Given the description of an element on the screen output the (x, y) to click on. 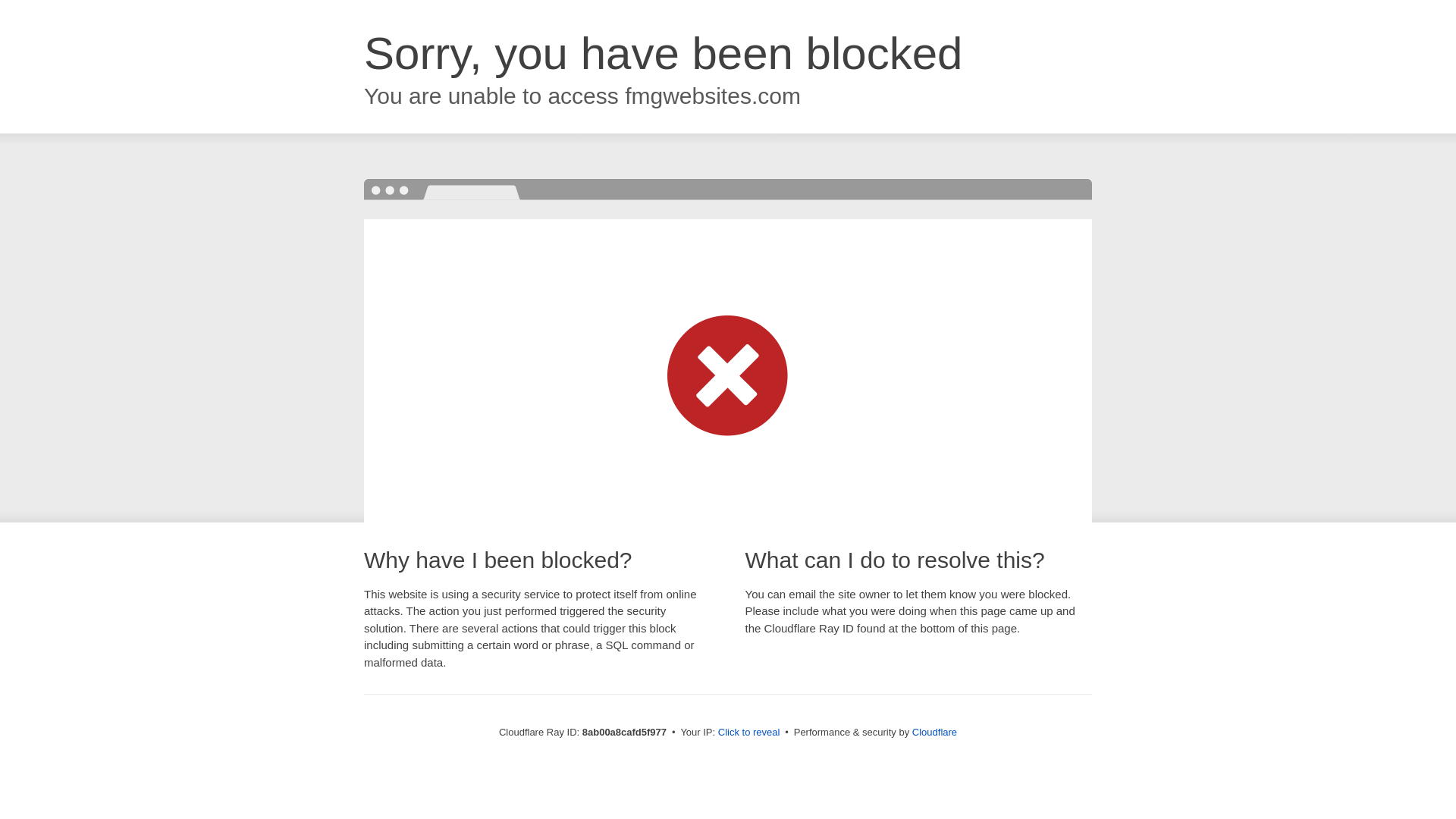
Click to reveal (748, 732)
Cloudflare (934, 731)
